Given the description of an element on the screen output the (x, y) to click on. 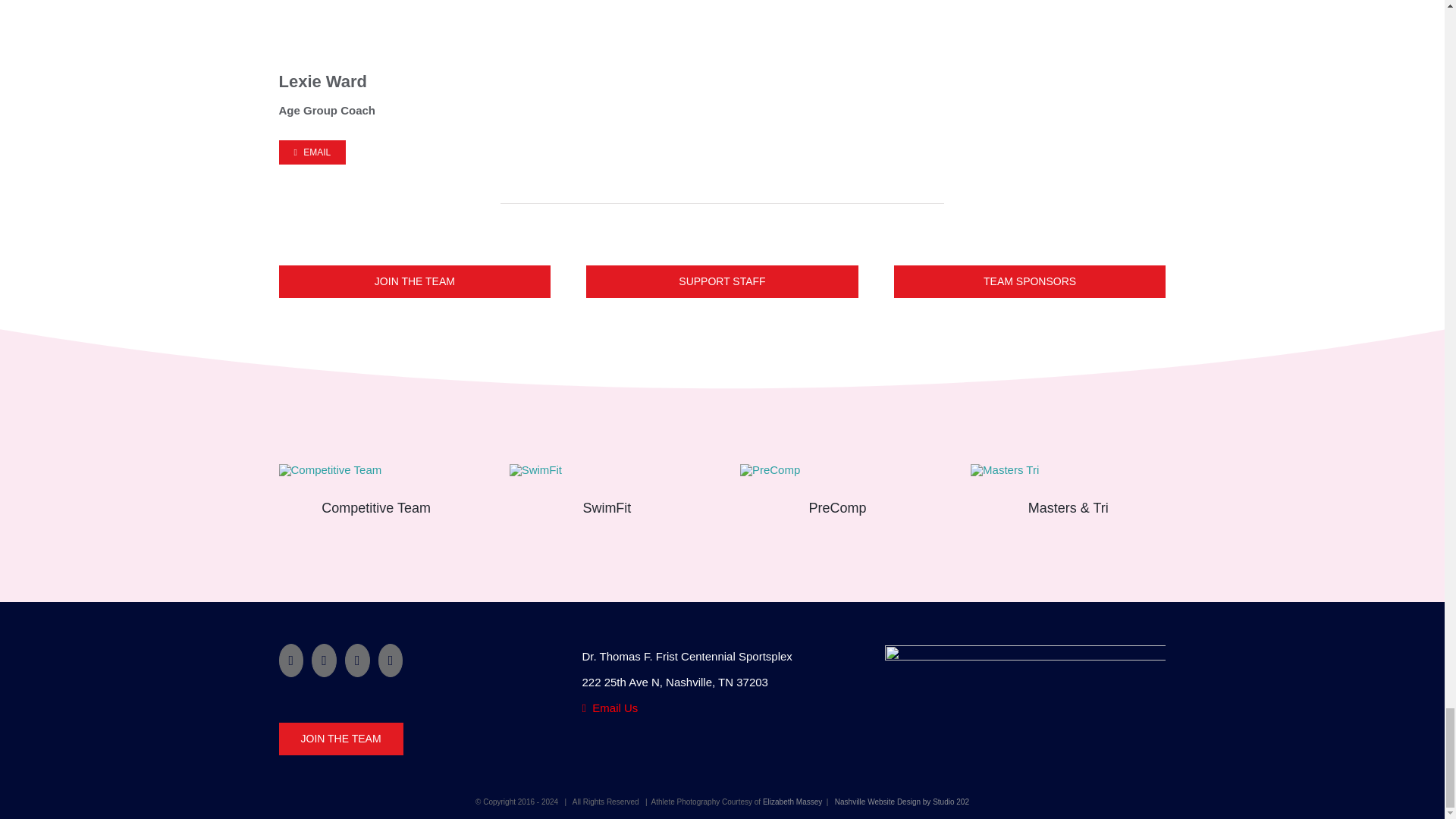
TEAM SPONSORS (1029, 281)
EMAIL (312, 152)
SUPPORT STAFF (722, 281)
JOIN THE TEAM (415, 281)
